Given the description of an element on the screen output the (x, y) to click on. 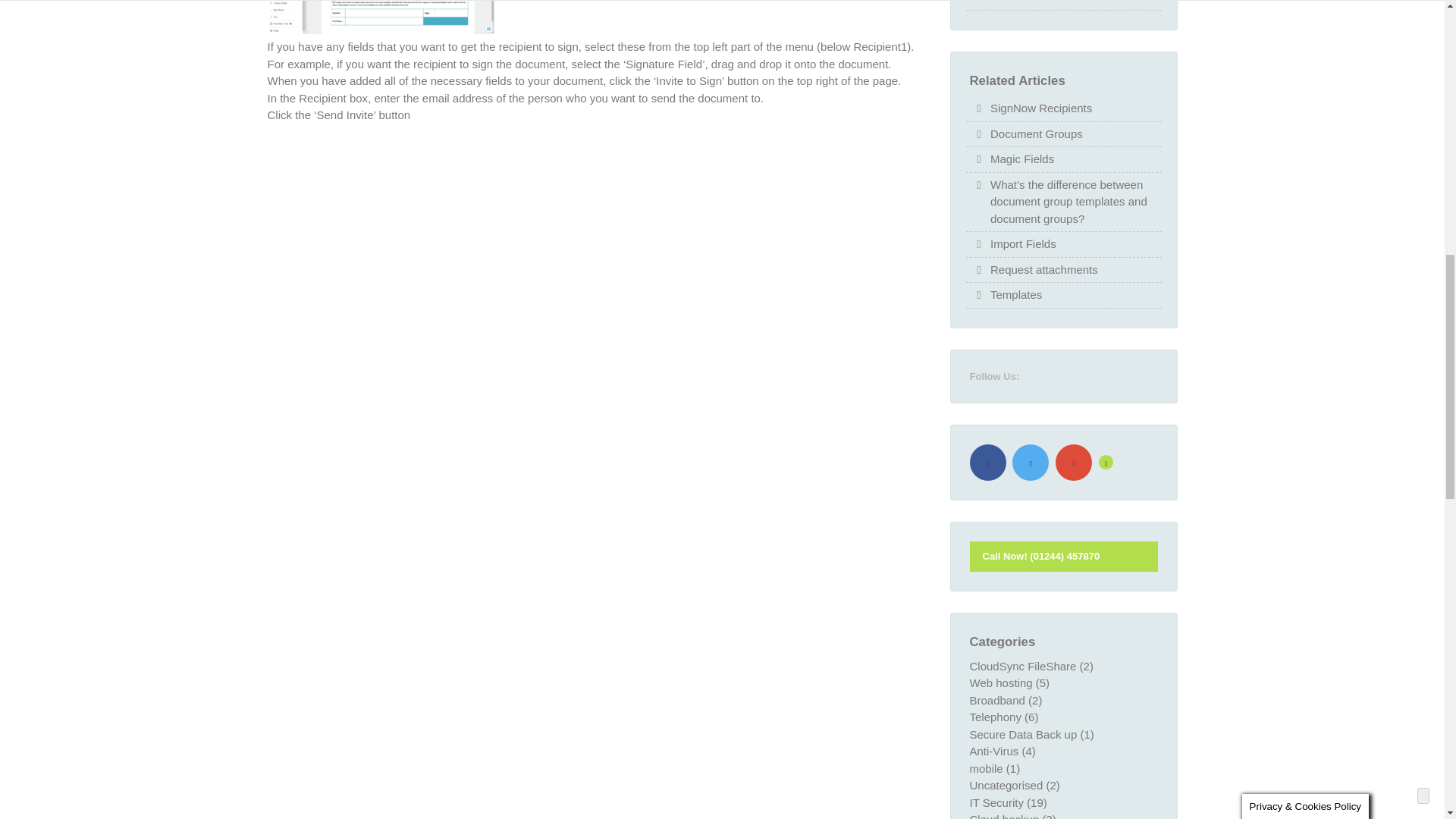
Import Fields (1023, 244)
Templates (1016, 294)
Document Groups (1036, 134)
Magic Fields (1022, 159)
Request attachments (1043, 270)
SignNow Recipients (1041, 108)
